Given the description of an element on the screen output the (x, y) to click on. 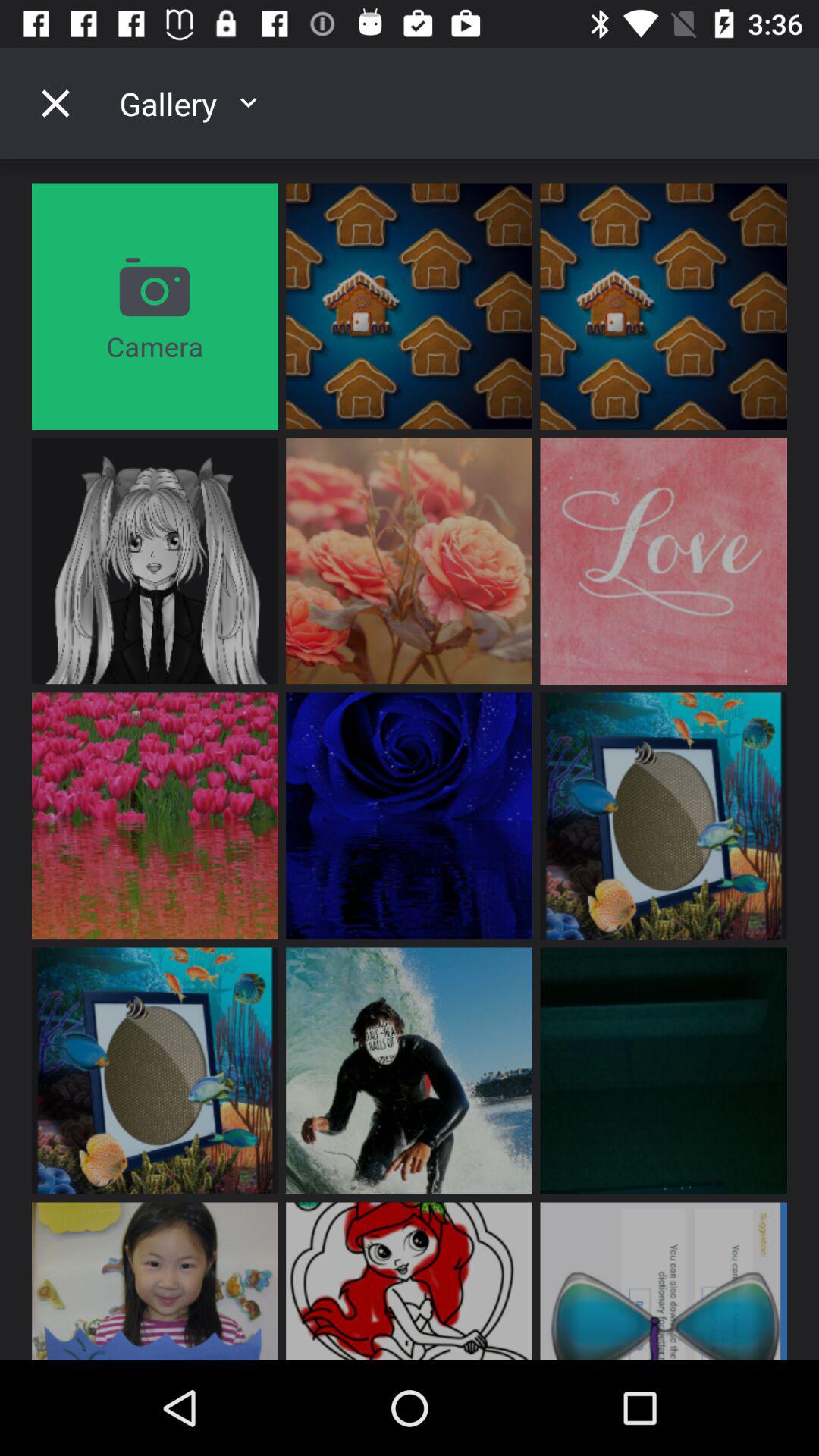
click on the second image (663, 306)
select the image which is left to the blue flower (154, 816)
gallery (366, 103)
go to the first image (408, 306)
select the eighth image (663, 816)
click on the fifth image (408, 561)
